Given the description of an element on the screen output the (x, y) to click on. 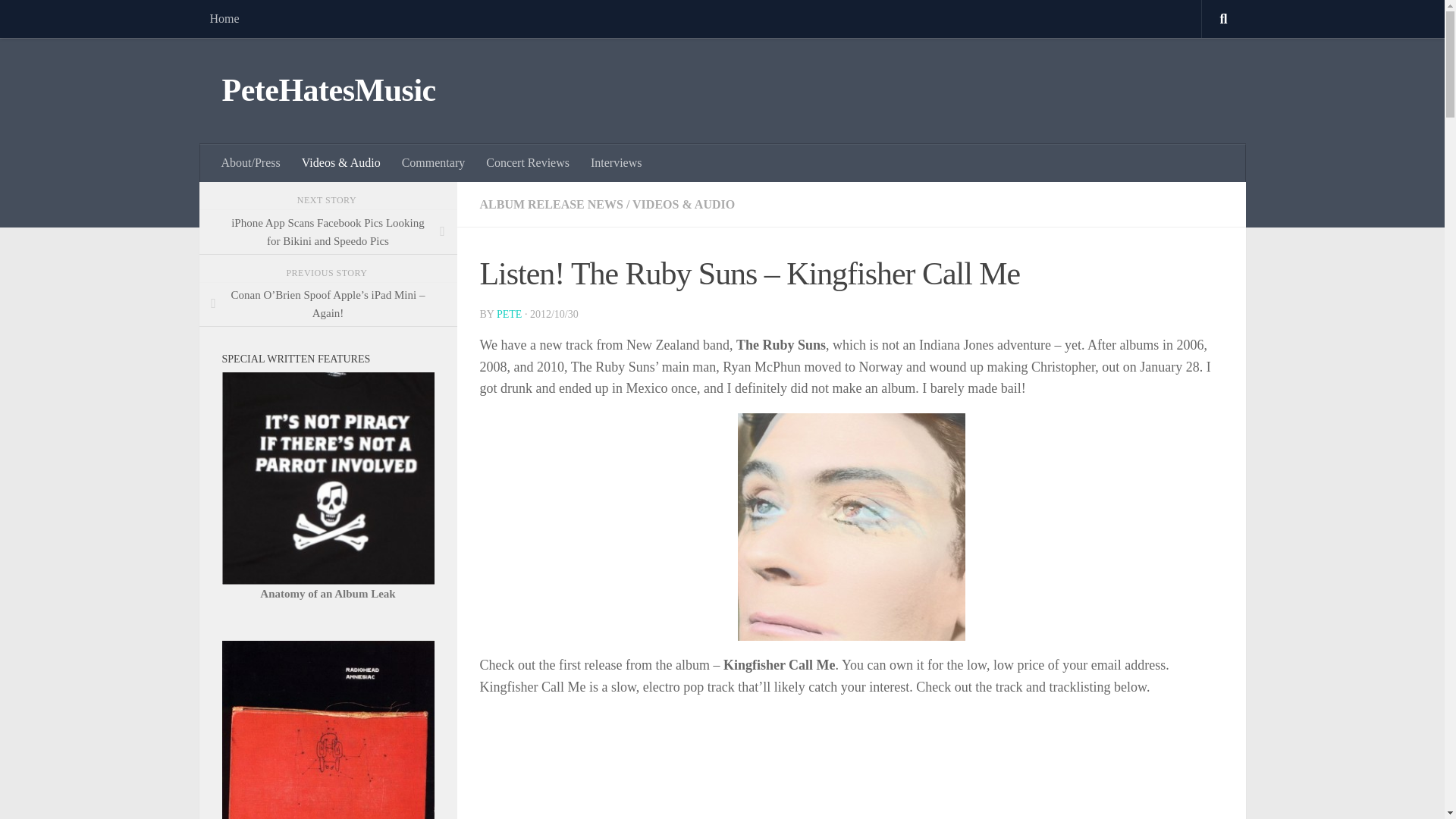
ALBUM RELEASE NEWS (551, 204)
Home (223, 18)
PeteHatesMusic (328, 90)
PETE (508, 314)
Posts by Pete (508, 314)
Anatomy of an Album Leak (327, 593)
Concert Reviews (527, 162)
Skip to content (59, 20)
Interviews (615, 162)
Commentary (433, 162)
